Given the description of an element on the screen output the (x, y) to click on. 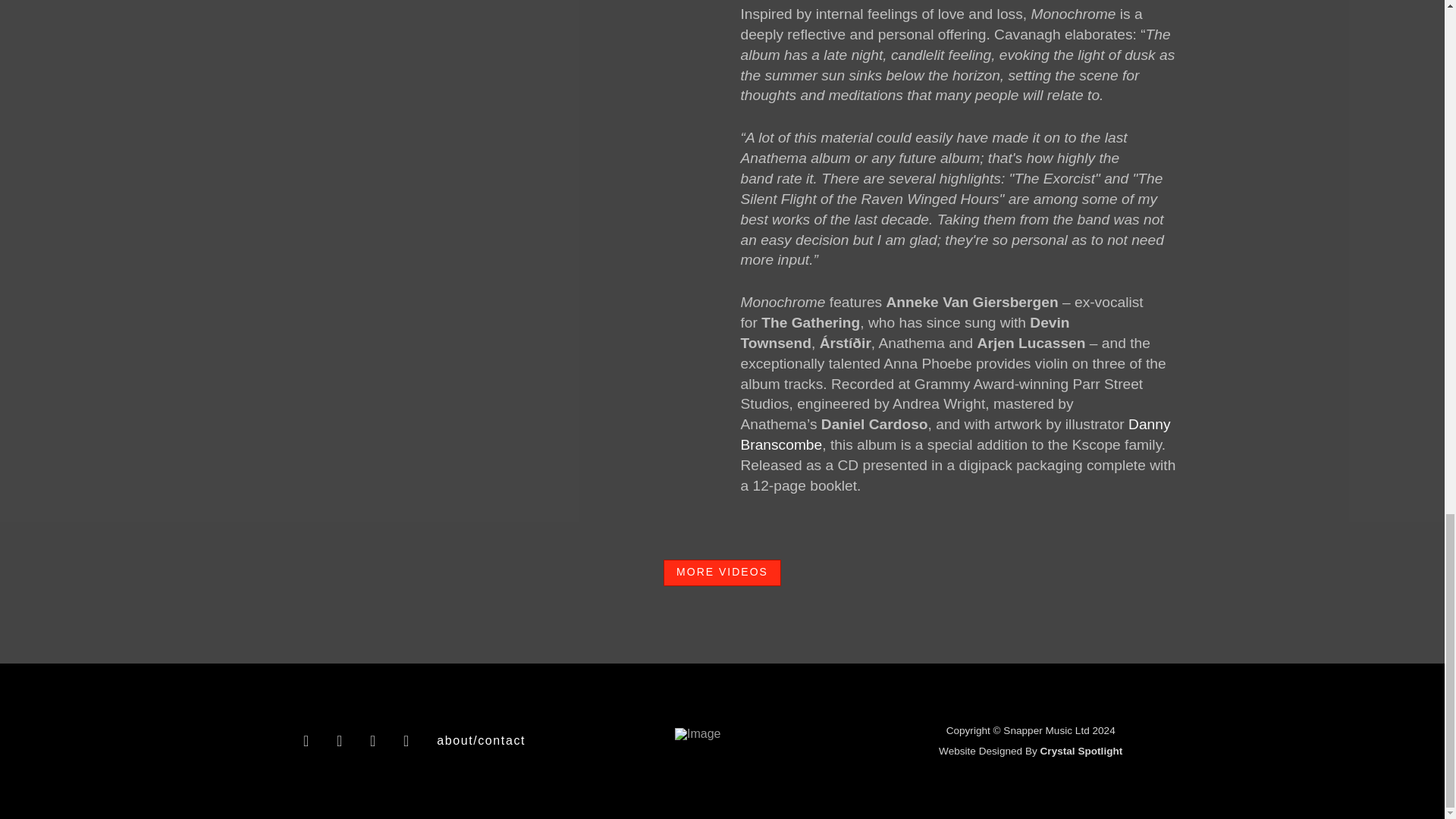
Danny Branscombe (954, 434)
MORE VIDEOS (721, 572)
